Given the description of an element on the screen output the (x, y) to click on. 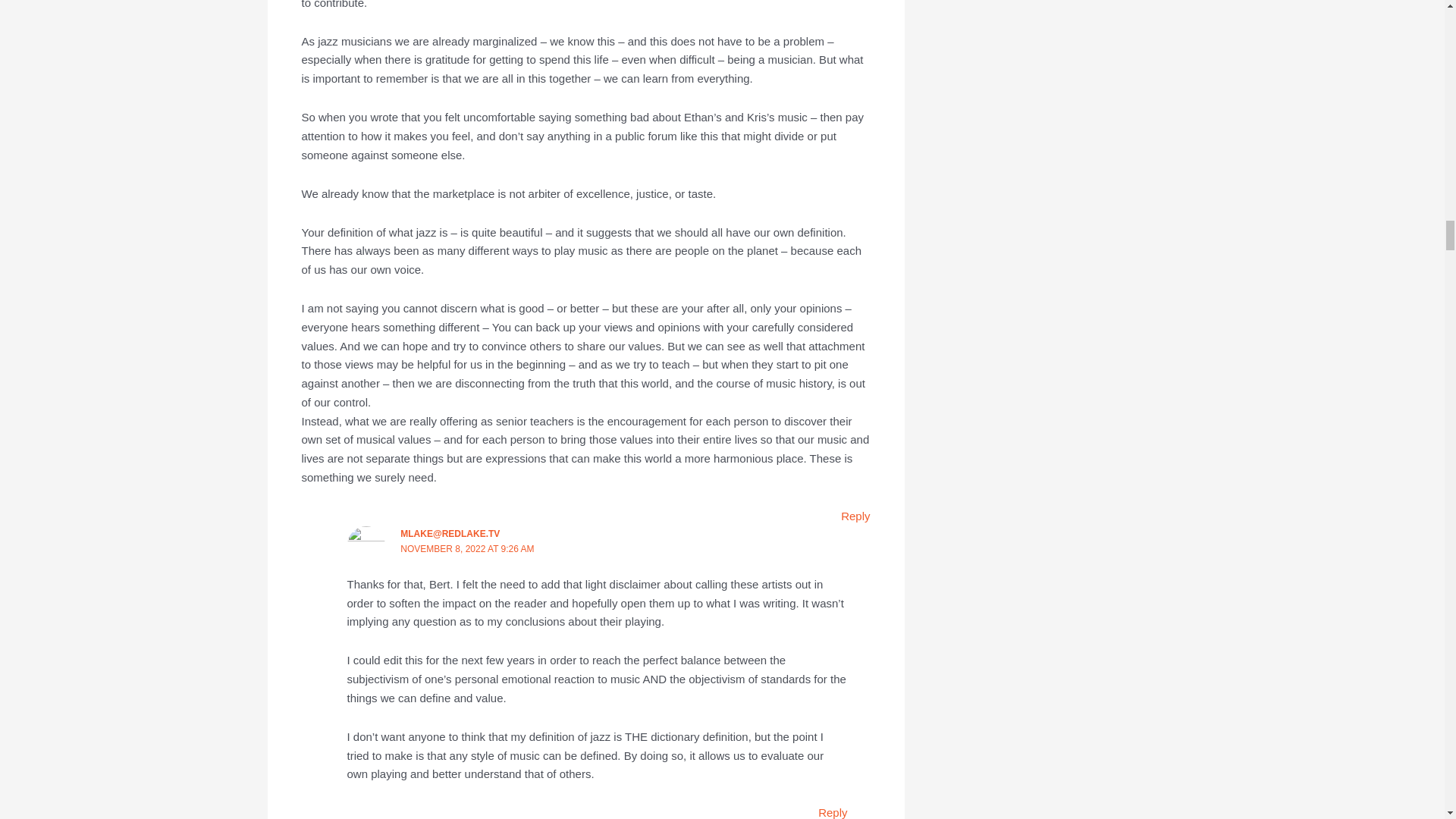
Reply (855, 515)
NOVEMBER 8, 2022 AT 9:26 AM (467, 548)
